Given the description of an element on the screen output the (x, y) to click on. 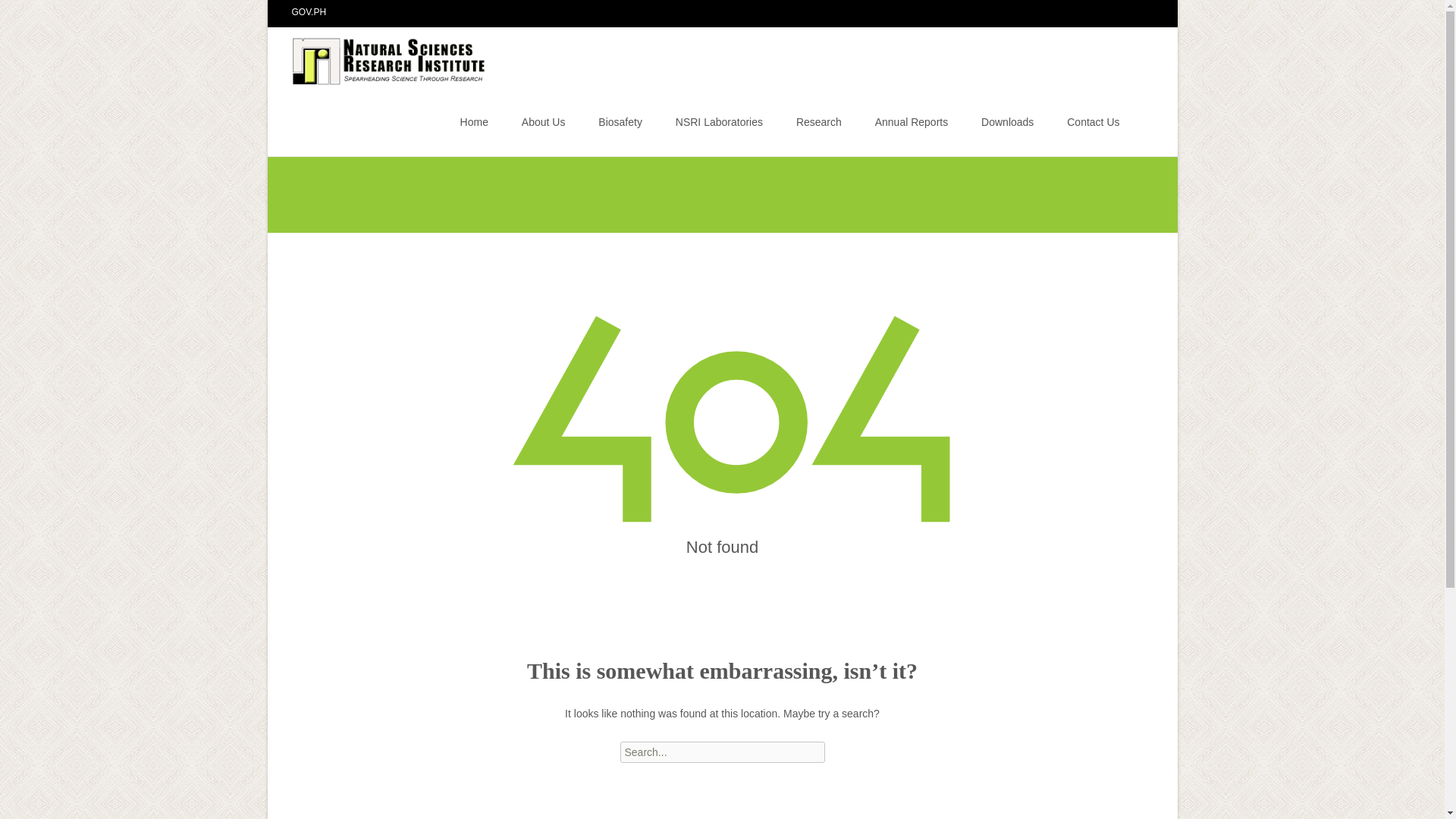
Search (34, 14)
Annual Reports (912, 121)
Search for: (722, 752)
Search for: (1139, 123)
Search (18, 14)
Natural Sciences Research Institute (378, 57)
GOV.PH (308, 11)
NSRI Laboratories (718, 121)
